Given the description of an element on the screen output the (x, y) to click on. 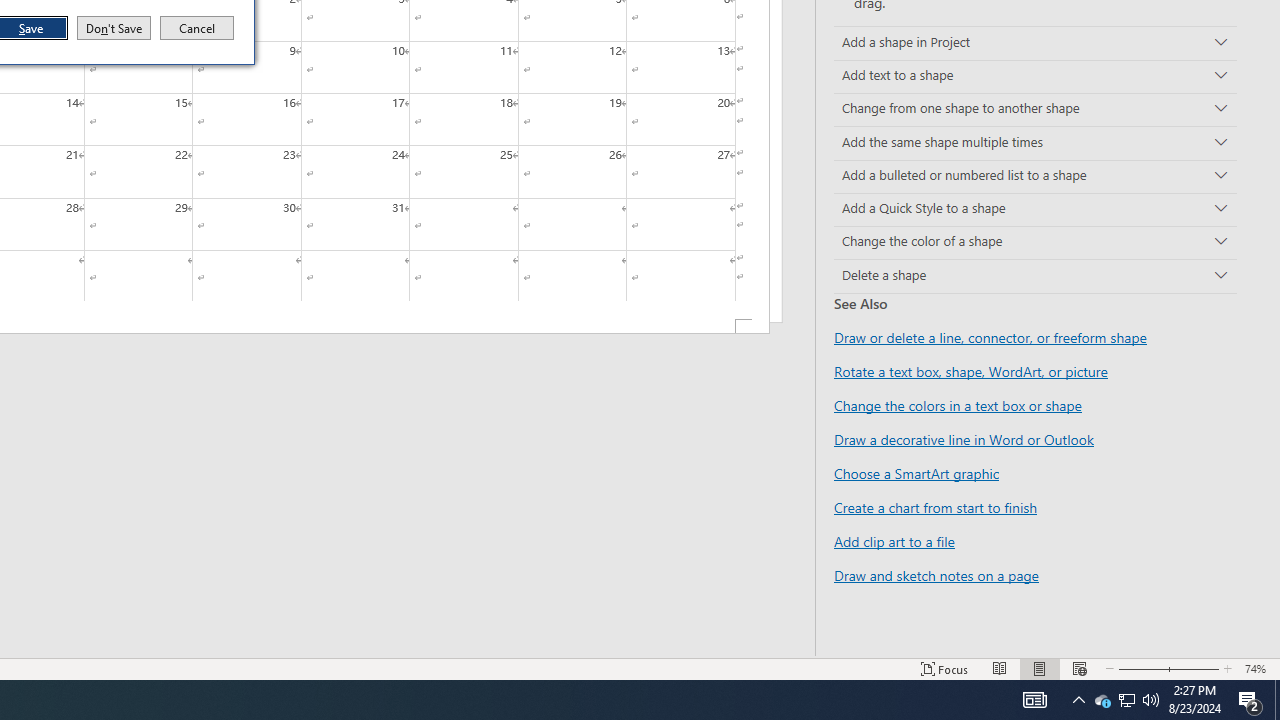
Cancel (197, 27)
Add a shape in Project (1035, 43)
User Promoted Notification Area (1126, 699)
Change from one shape to another shape (1035, 109)
Focus  (944, 668)
Change the colors in a text box or shape (957, 405)
